Given the description of an element on the screen output the (x, y) to click on. 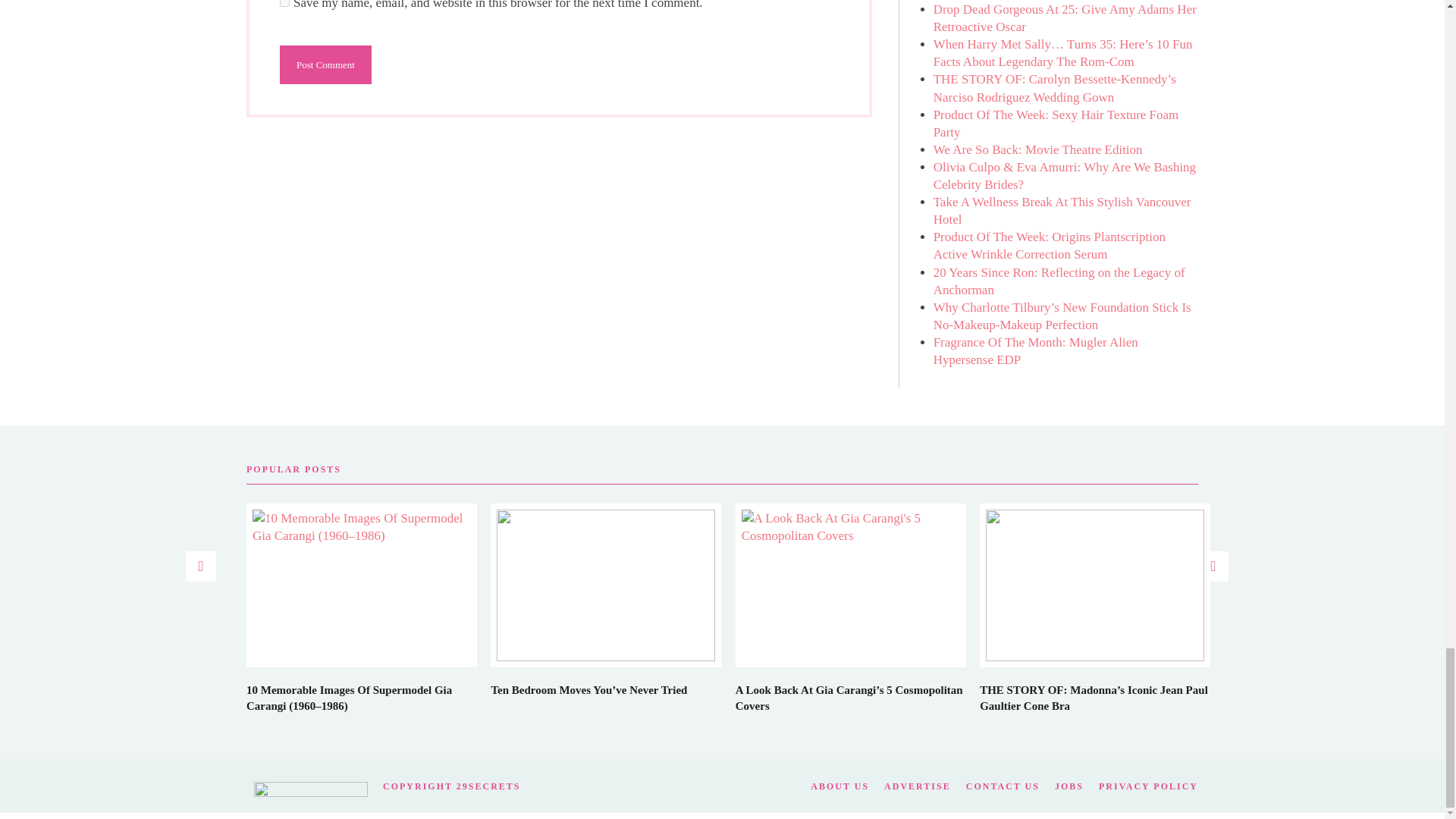
yes (284, 3)
Post Comment (325, 64)
